Given the description of an element on the screen output the (x, y) to click on. 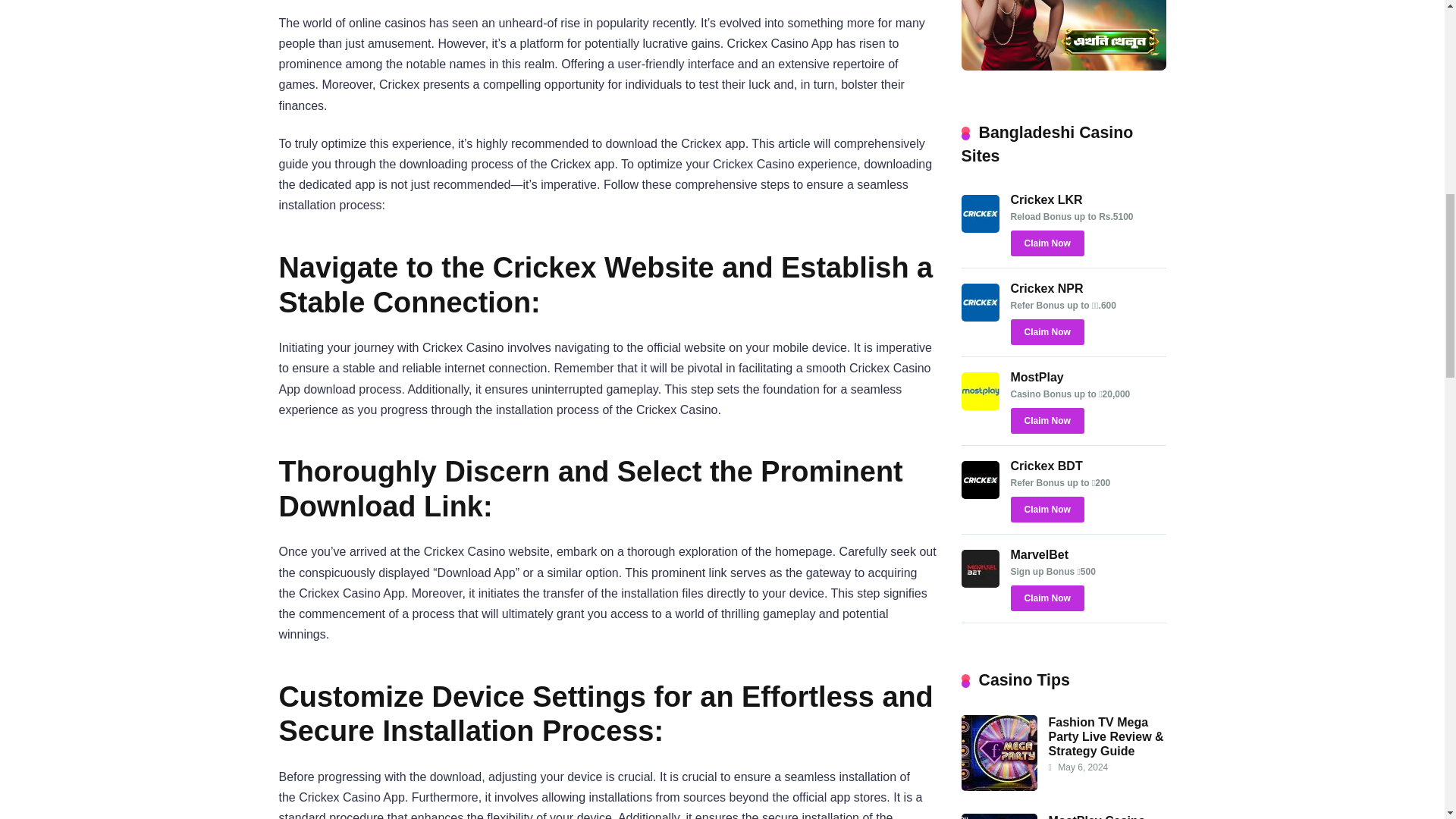
MarvelBet (1038, 554)
Crickex BDT (1045, 465)
MostPlay (1036, 377)
MarvelBet (979, 583)
Crickex LKR (1045, 199)
Claim Now (1046, 331)
Claim Now (1046, 509)
Crickex NPR (979, 317)
MostPlay (979, 405)
Claim Now (1046, 597)
